Given the description of an element on the screen output the (x, y) to click on. 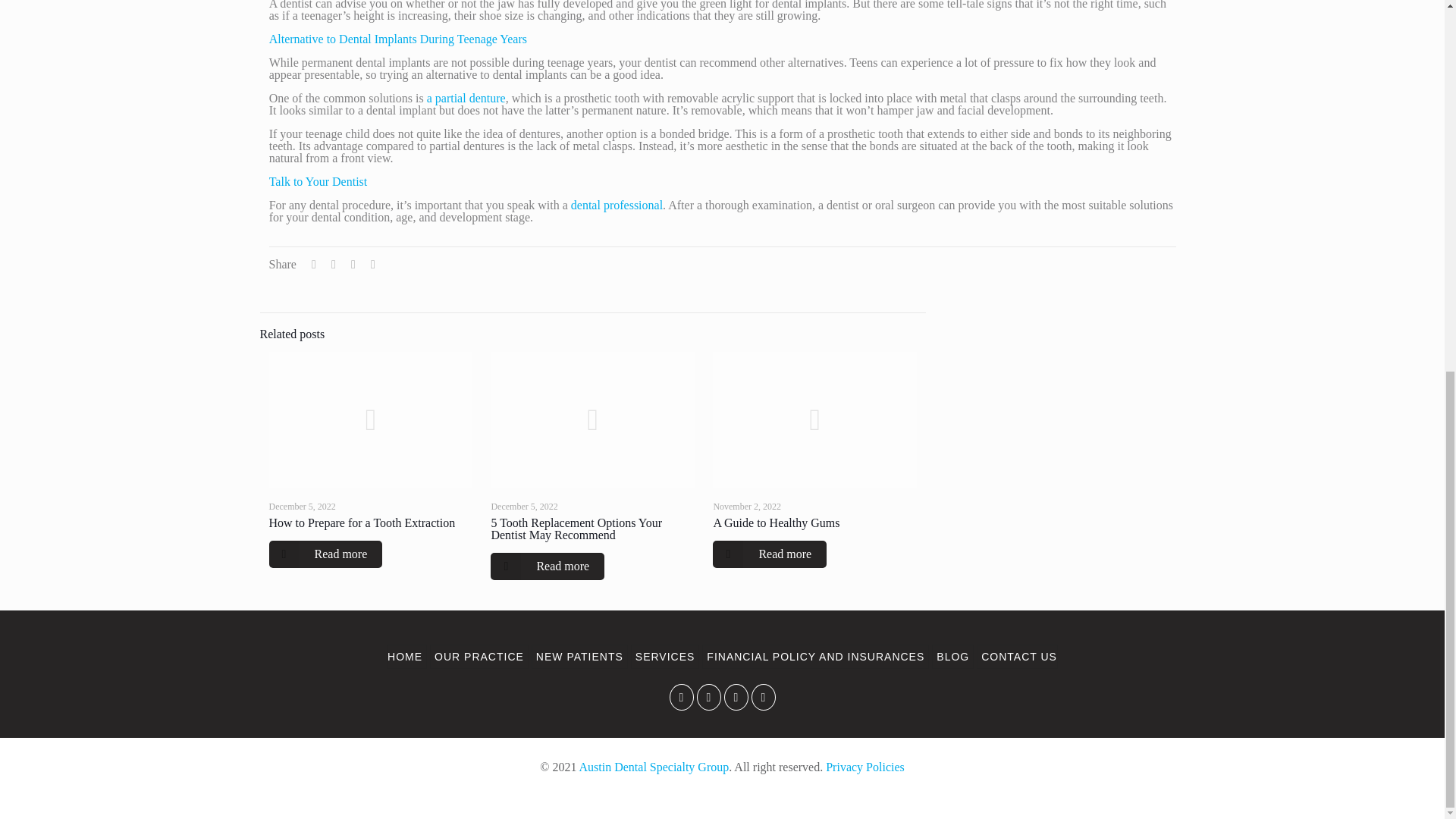
OUR PRACTICE (478, 656)
HOME (406, 656)
NEW PATIENTS (579, 656)
SERVICES (665, 656)
